Given the description of an element on the screen output the (x, y) to click on. 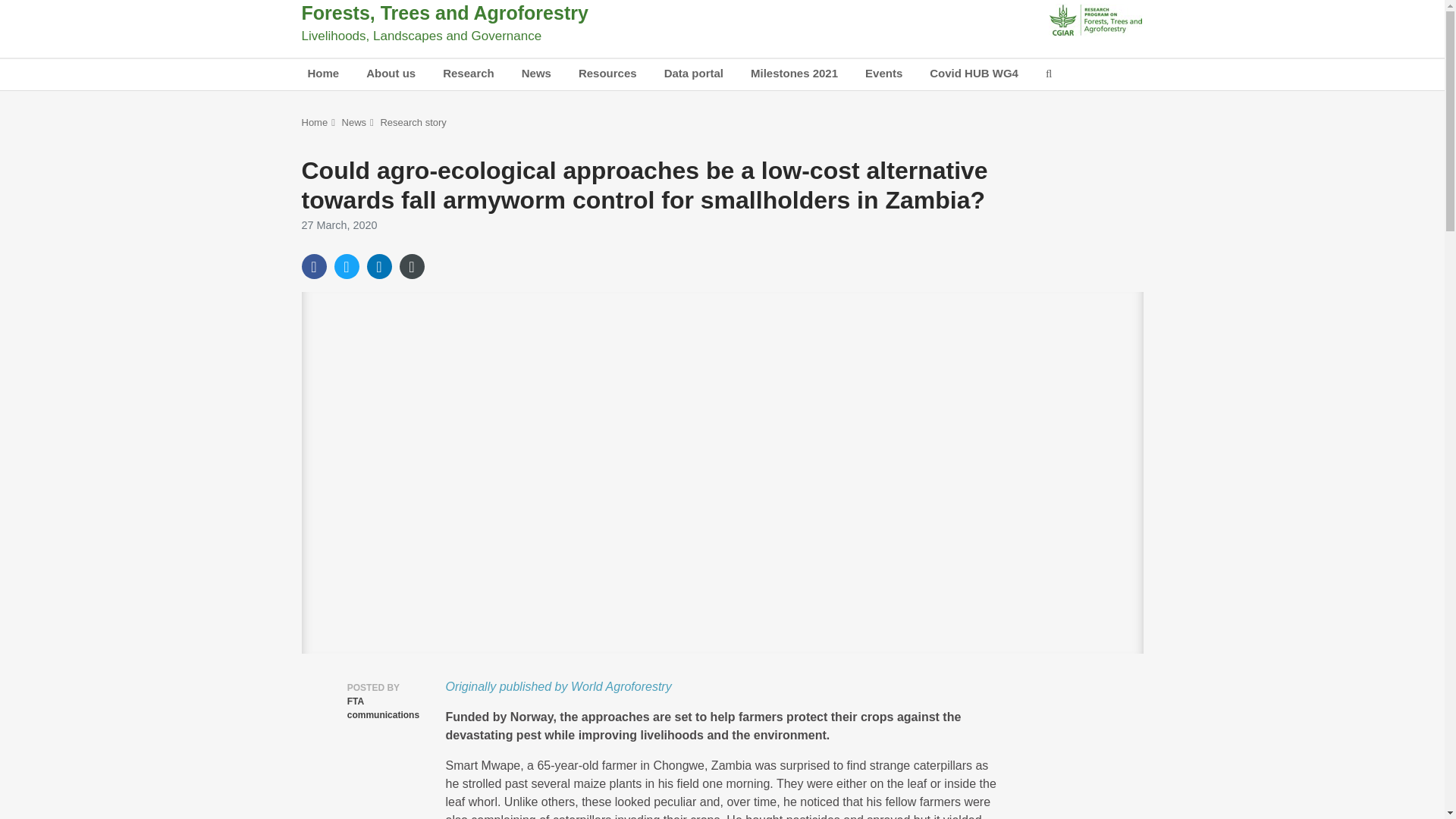
Research (468, 74)
Resources (607, 74)
News (536, 74)
About us (390, 74)
Home (323, 74)
Data portal (693, 74)
Milestones 2021 (794, 74)
